Given the description of an element on the screen output the (x, y) to click on. 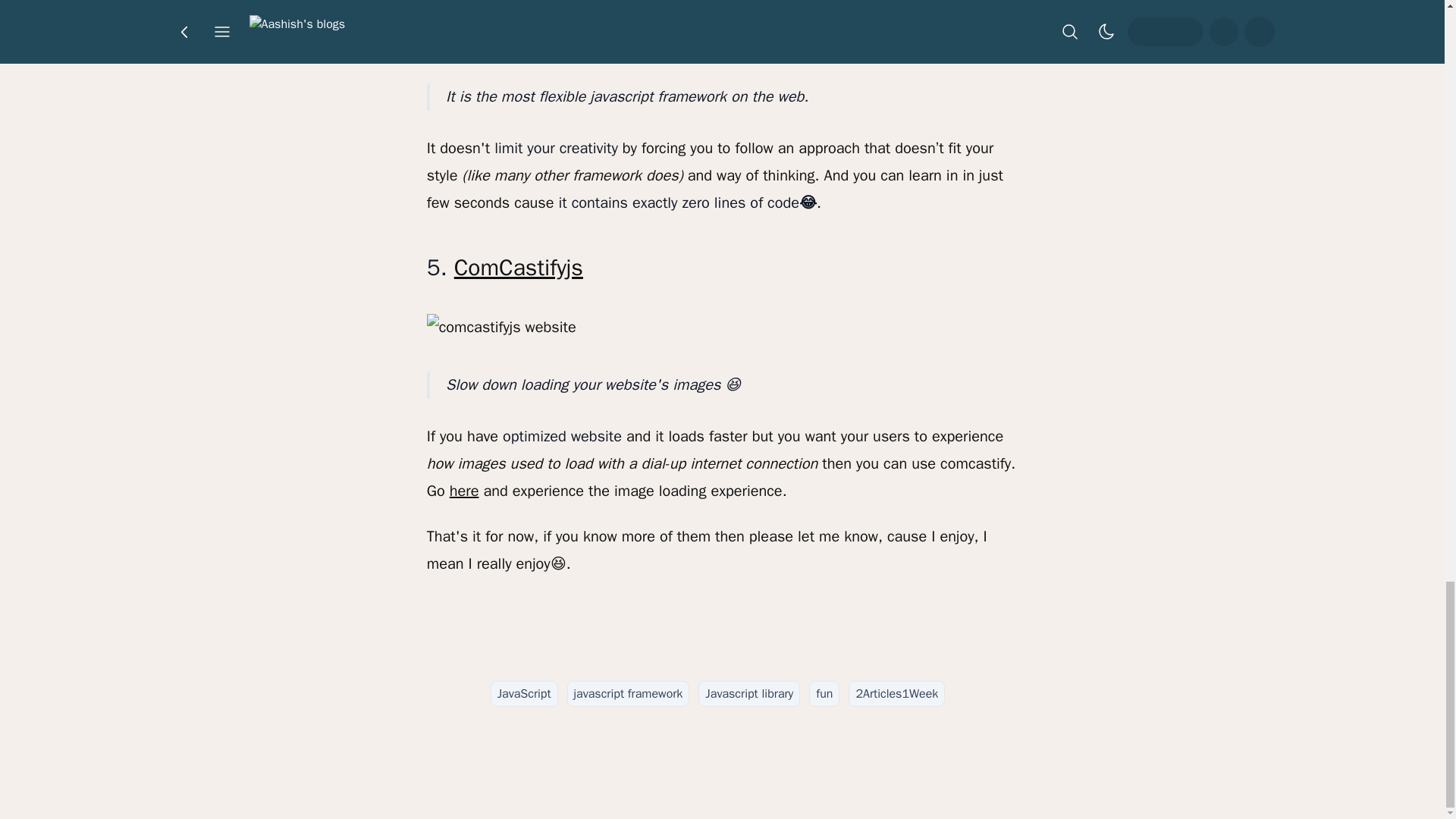
ComCastifyjs (518, 267)
fun (824, 693)
JavaScript (523, 693)
2Articles1Week (896, 693)
javascript framework (628, 693)
here (464, 490)
Javascript library (748, 693)
